Given the description of an element on the screen output the (x, y) to click on. 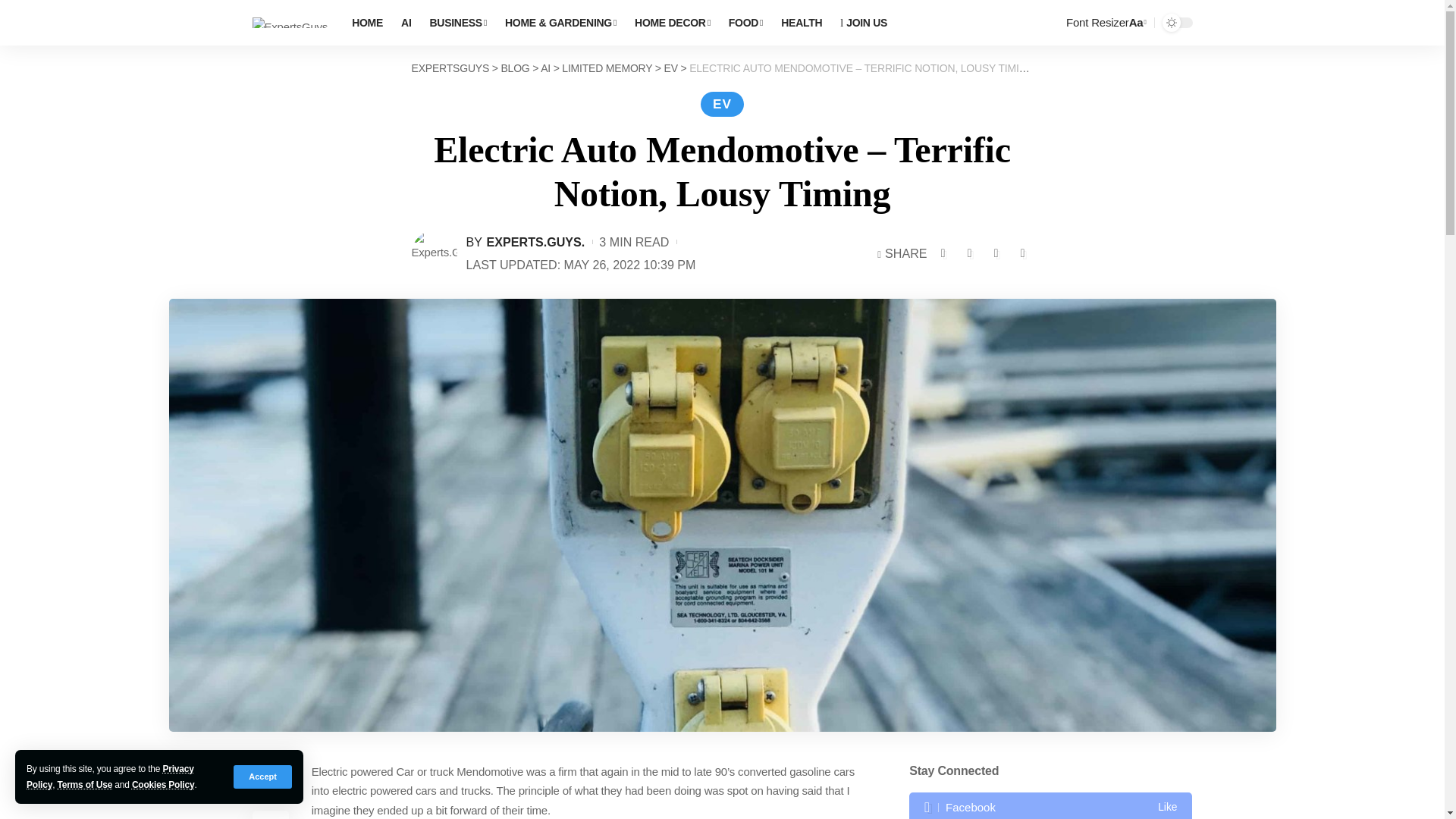
BUSINESS (458, 22)
Terms of Use (84, 784)
HOME DECOR (672, 22)
Privacy Policy (109, 776)
ExpertsGuys (289, 22)
Cookies Policy (163, 784)
HOME (366, 22)
Accept (262, 776)
